Given the description of an element on the screen output the (x, y) to click on. 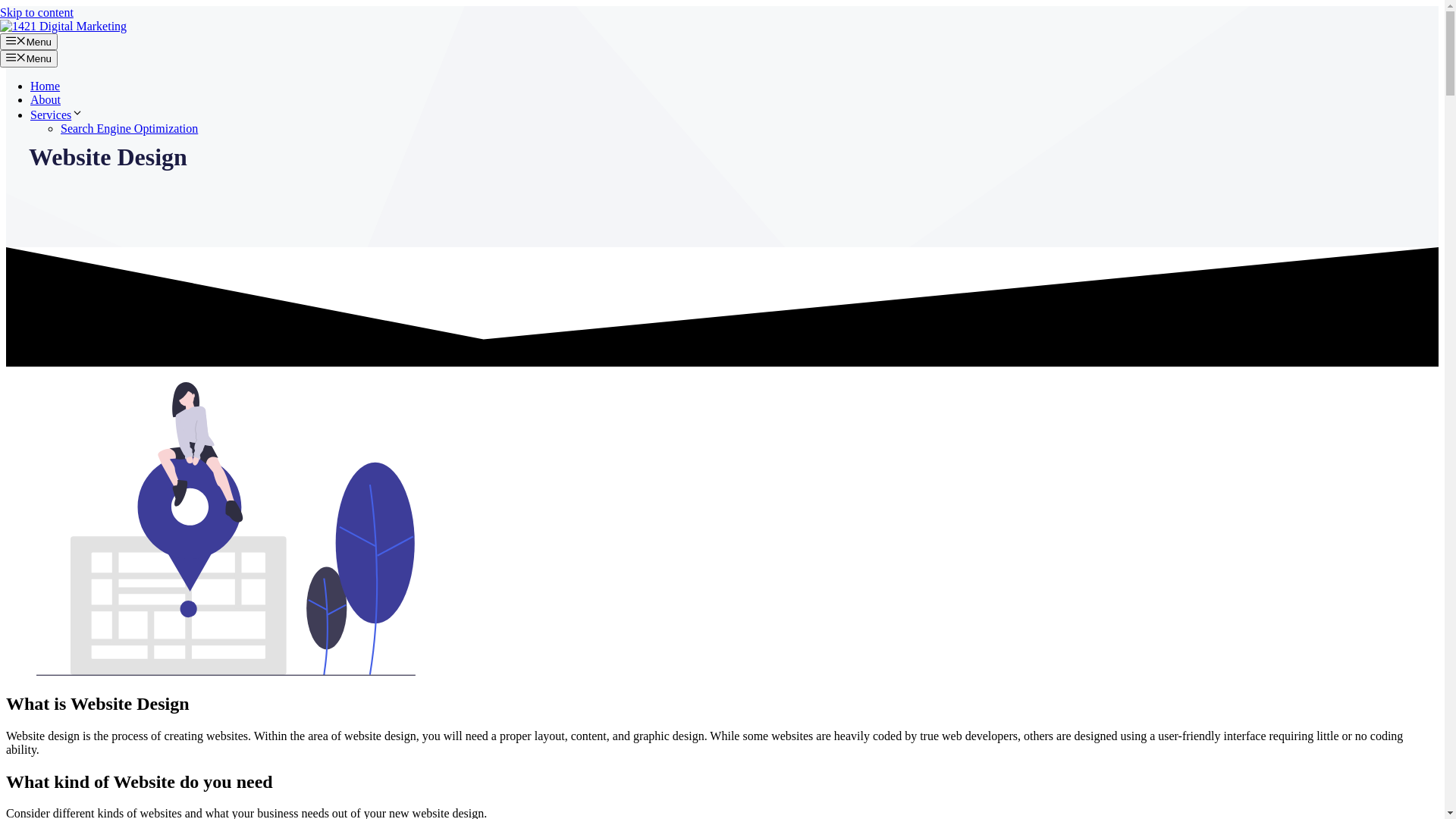
Home Element type: text (44, 85)
About Element type: text (45, 99)
Menu Element type: text (28, 58)
Menu Element type: text (28, 41)
1421 Digital Marketing Element type: hover (63, 26)
Services Element type: text (56, 114)
Skip to content Element type: text (36, 12)
1421 Digital Marketing Element type: hover (63, 25)
